Given the description of an element on the screen output the (x, y) to click on. 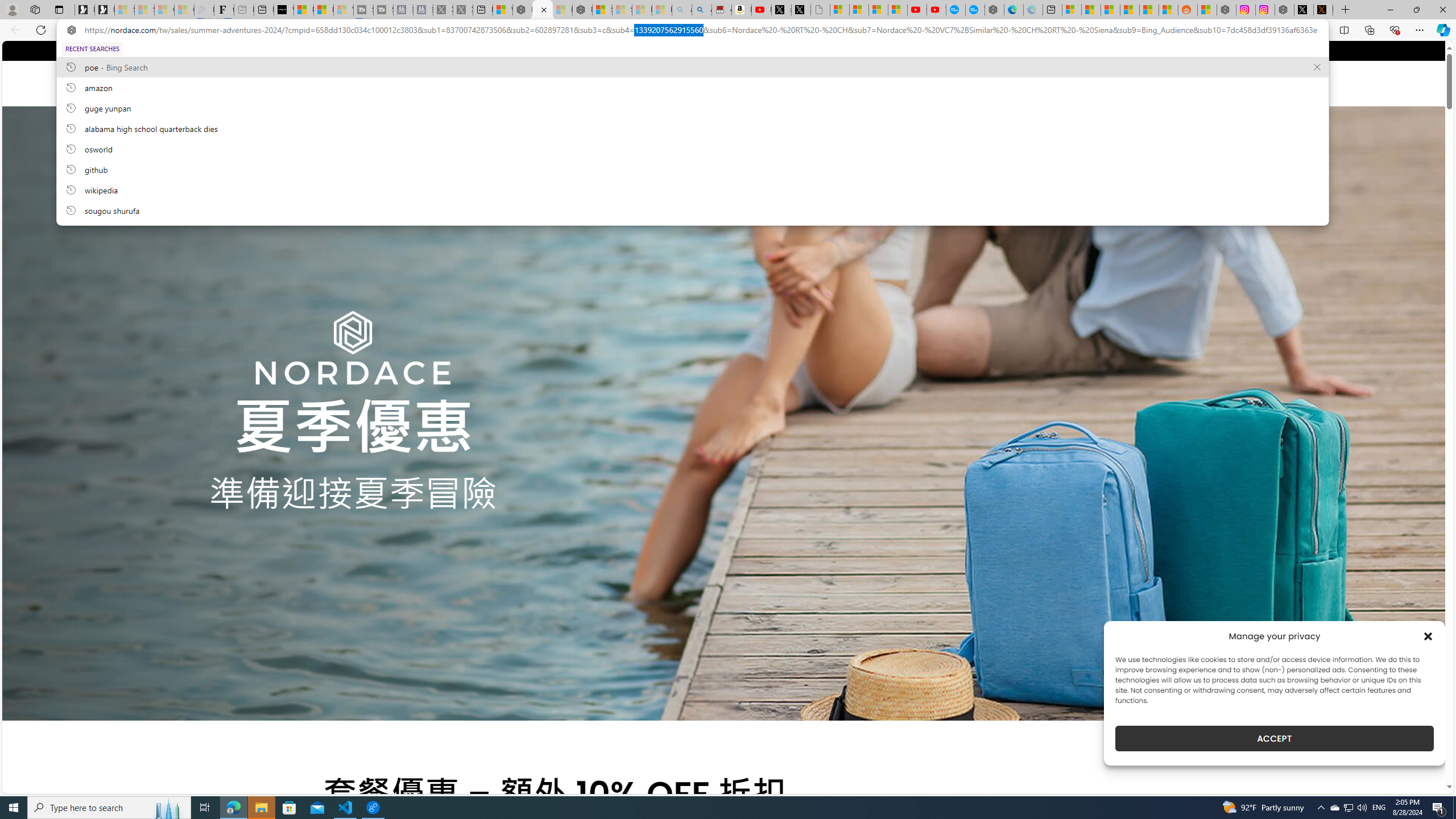
Day 1: Arriving in Yemen (surreal to be here) - YouTube (761, 9)
Nordace - Summer Adventures 2024 (1283, 9)
Streaming Coverage | T3 - Sleeping (362, 9)
New tab (1052, 9)
Nordace - Nordace has arrived Hong Kong (994, 9)
amazon - Search - Sleeping (681, 9)
